Given the description of an element on the screen output the (x, y) to click on. 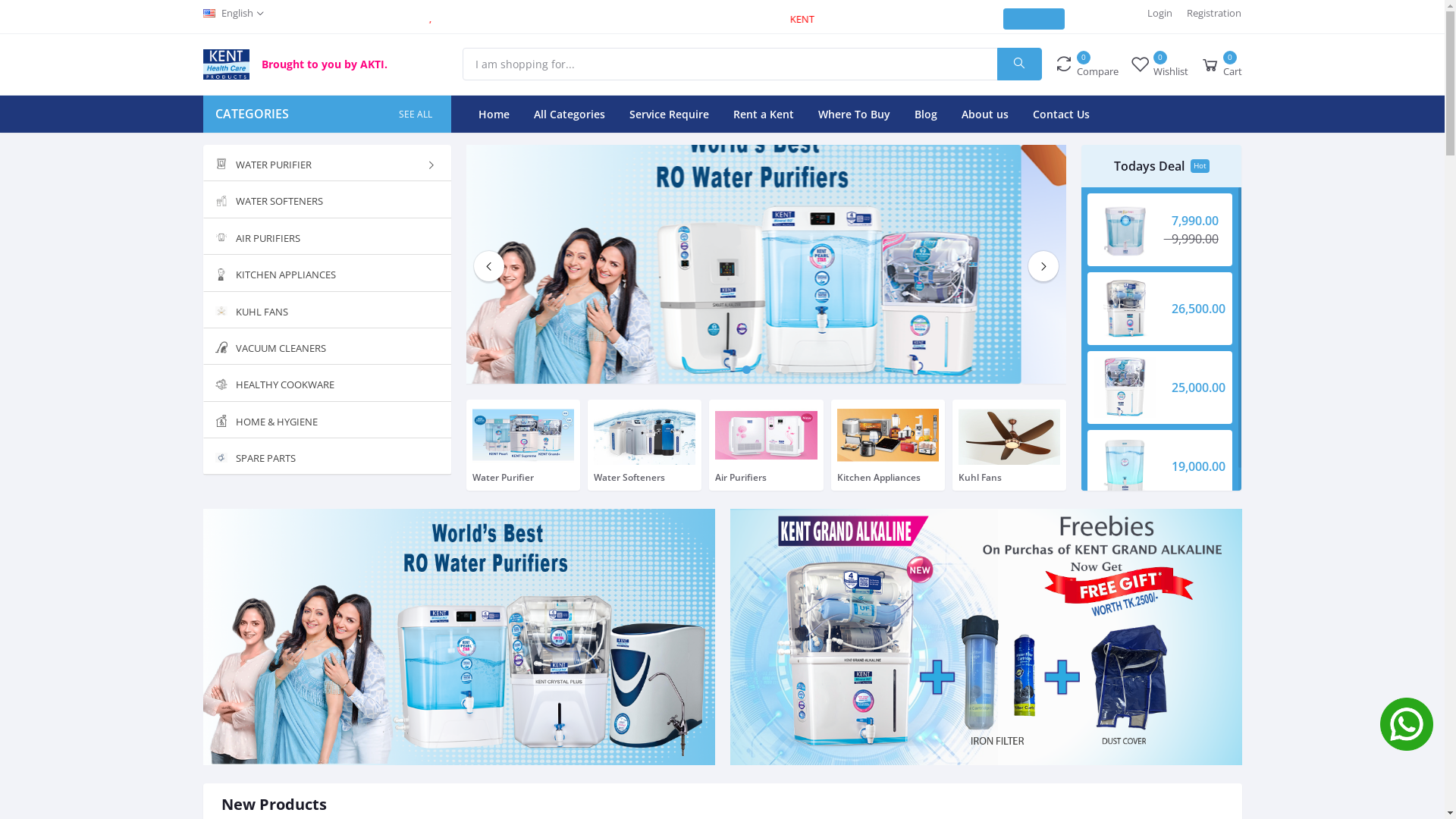
English Element type: text (233, 13)
WATER PURIFIER Element type: text (327, 162)
Registration Element type: text (1213, 13)
Contact Us Element type: text (1060, 114)
Water Softeners Element type: text (644, 444)
Where To Buy Element type: text (854, 114)
VACUUM CLEANERS Element type: text (327, 346)
Blog Element type: text (925, 114)
HEALTHY COOKWARE Element type: text (327, 382)
Login Element type: text (1159, 13)
3 Element type: text (772, 369)
HOME & HYGIENE Element type: text (327, 420)
Kuhl Fans Element type: text (1009, 444)
1 Element type: text (746, 369)
About us Element type: text (984, 114)
0
Cart Element type: text (1220, 63)
KITCHEN APPLIANCES Element type: text (327, 272)
Home Element type: text (493, 114)
KUHL FANS Element type: text (327, 309)
Kitchen Appliances Element type: text (887, 444)
4 Element type: text (785, 369)
Water Purifier Element type: text (523, 444)
Service Require Element type: text (669, 114)
Air Purifiers Element type: text (765, 444)
0
Compare Element type: text (1086, 63)
Rent a Kent Element type: text (763, 114)
2 Element type: text (759, 369)
All Categories Element type: text (569, 114)
WATER SOFTENERS Element type: text (327, 199)
AIR PURIFIERS Element type: text (327, 236)
SPARE PARTS Element type: text (327, 456)
0
Wishlist Element type: text (1158, 63)
SEE ALL Element type: text (417, 113)
